Given the description of an element on the screen output the (x, y) to click on. 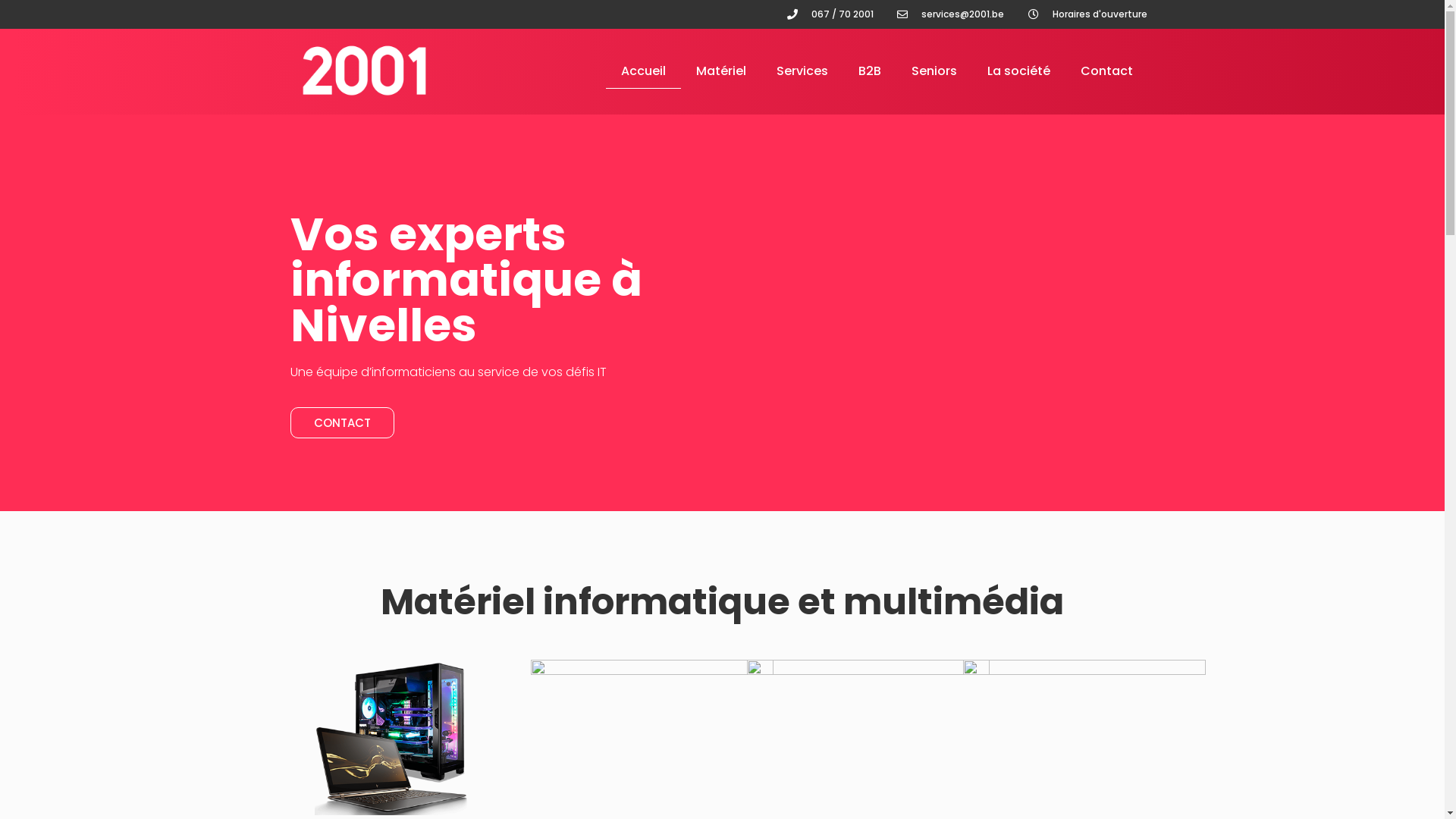
Seniors Element type: text (934, 70)
Horaires d'ouverture Element type: text (1086, 14)
CONTACT Element type: text (341, 422)
Contact Element type: text (1106, 70)
Accueil Element type: text (642, 70)
services@2001.be Element type: text (949, 14)
Services Element type: text (802, 70)
067 / 70 2001 Element type: text (828, 14)
B2B Element type: text (869, 70)
